Given the description of an element on the screen output the (x, y) to click on. 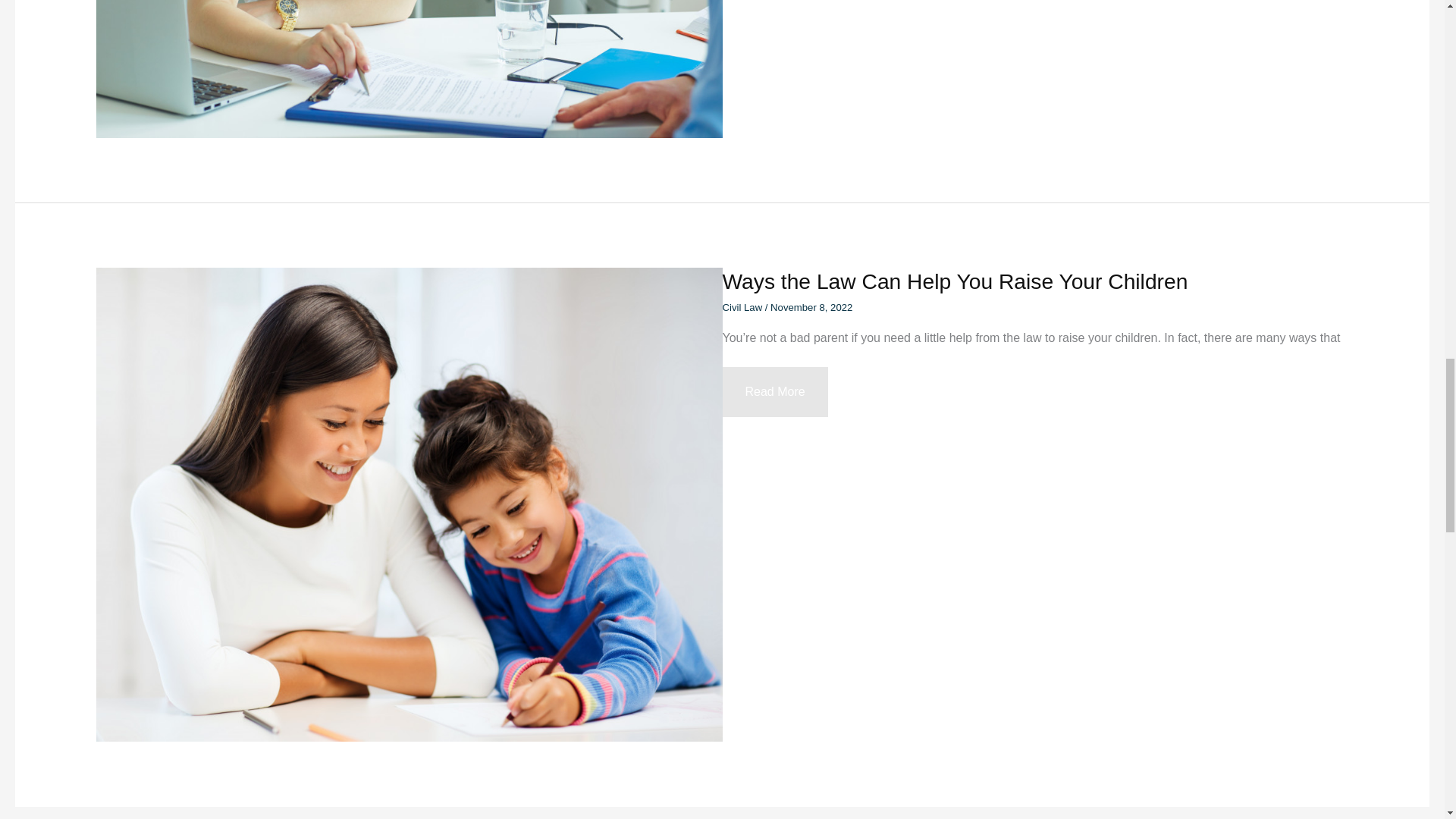
Ways the Law Can Help You Raise Your Children (774, 391)
Civil Law (955, 281)
